Given the description of an element on the screen output the (x, y) to click on. 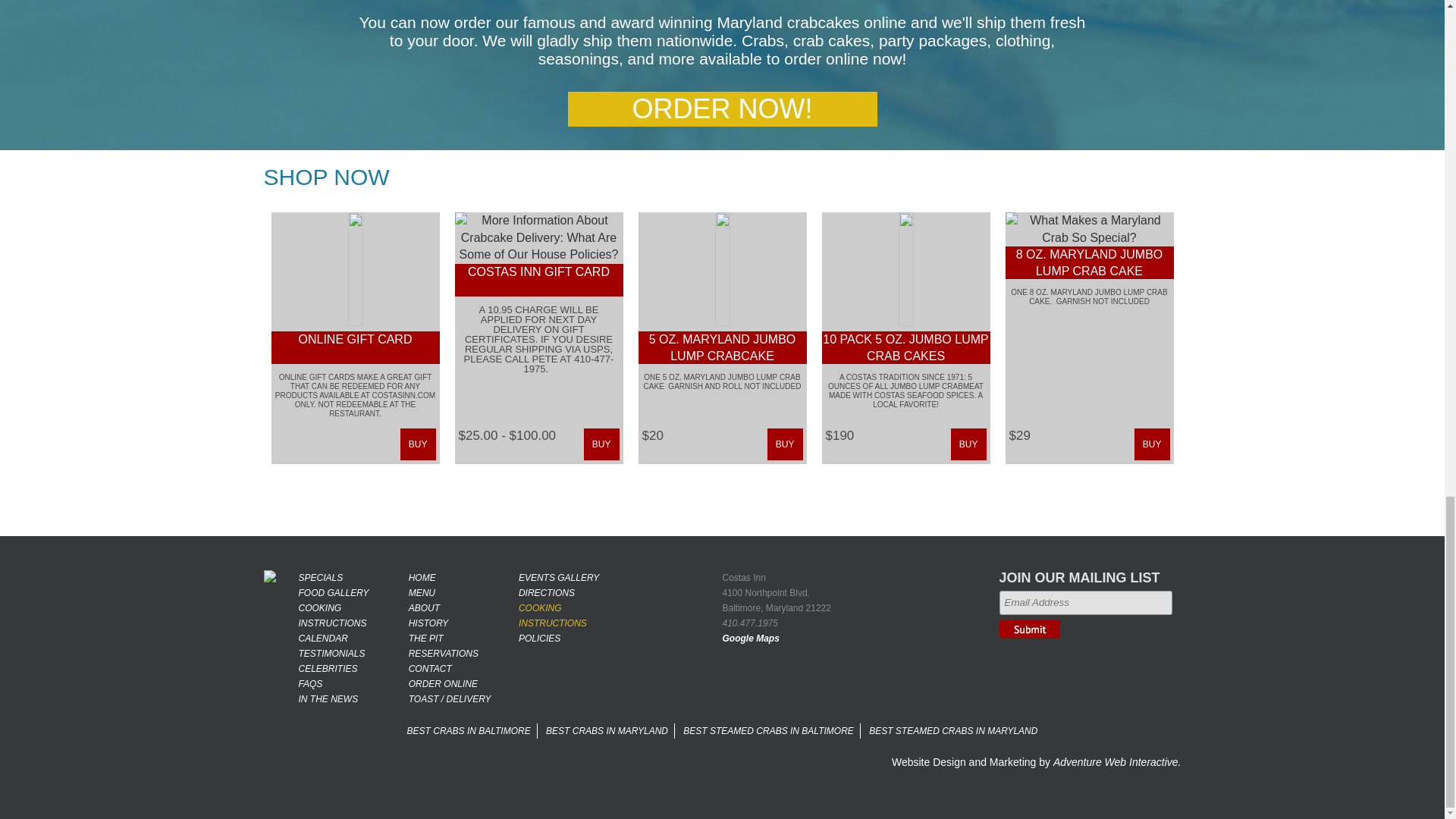
Submit (1028, 628)
ORDER NOW! (721, 108)
BUY (417, 444)
